Given the description of an element on the screen output the (x, y) to click on. 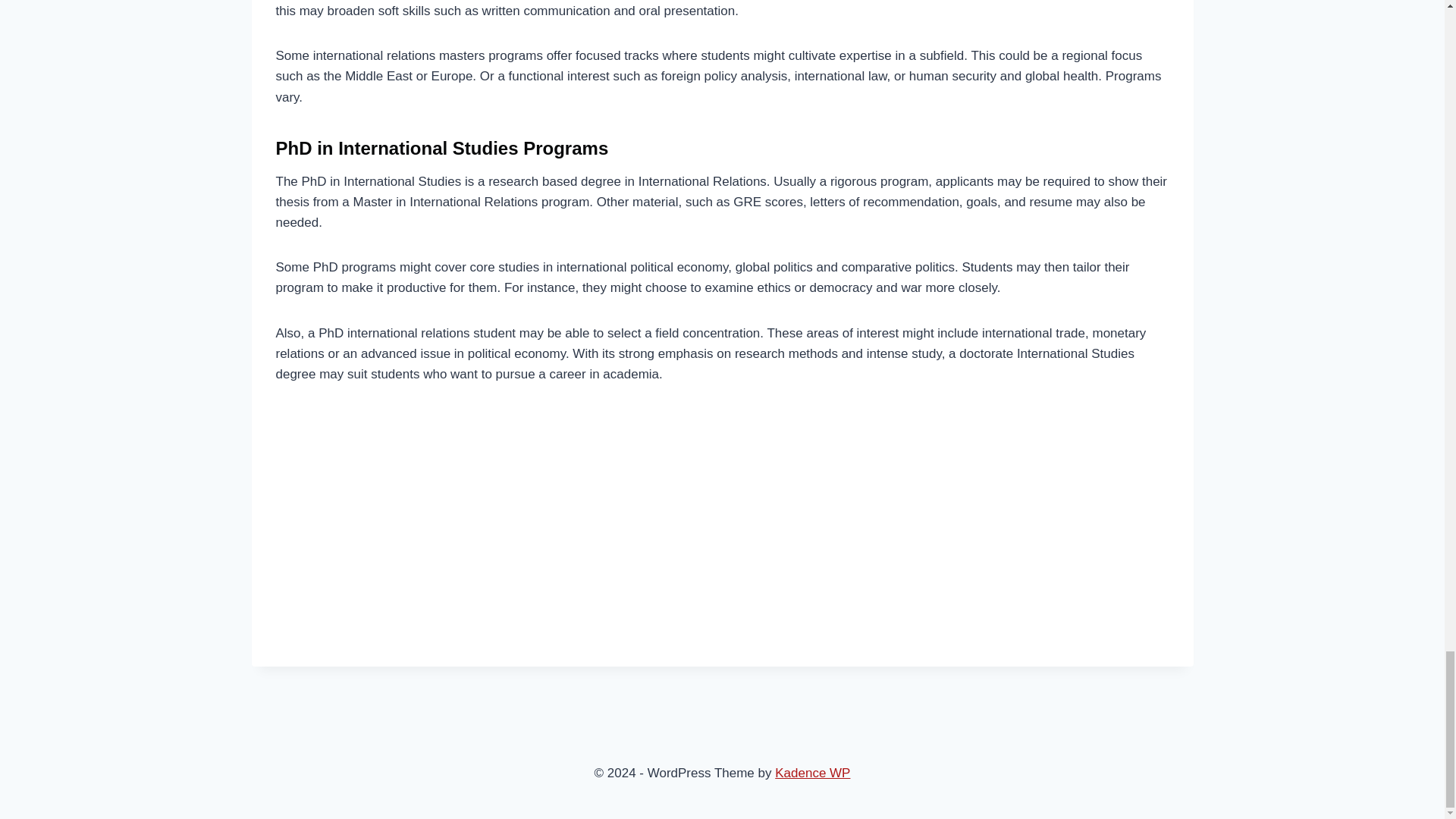
Kadence WP (812, 772)
